Given the description of an element on the screen output the (x, y) to click on. 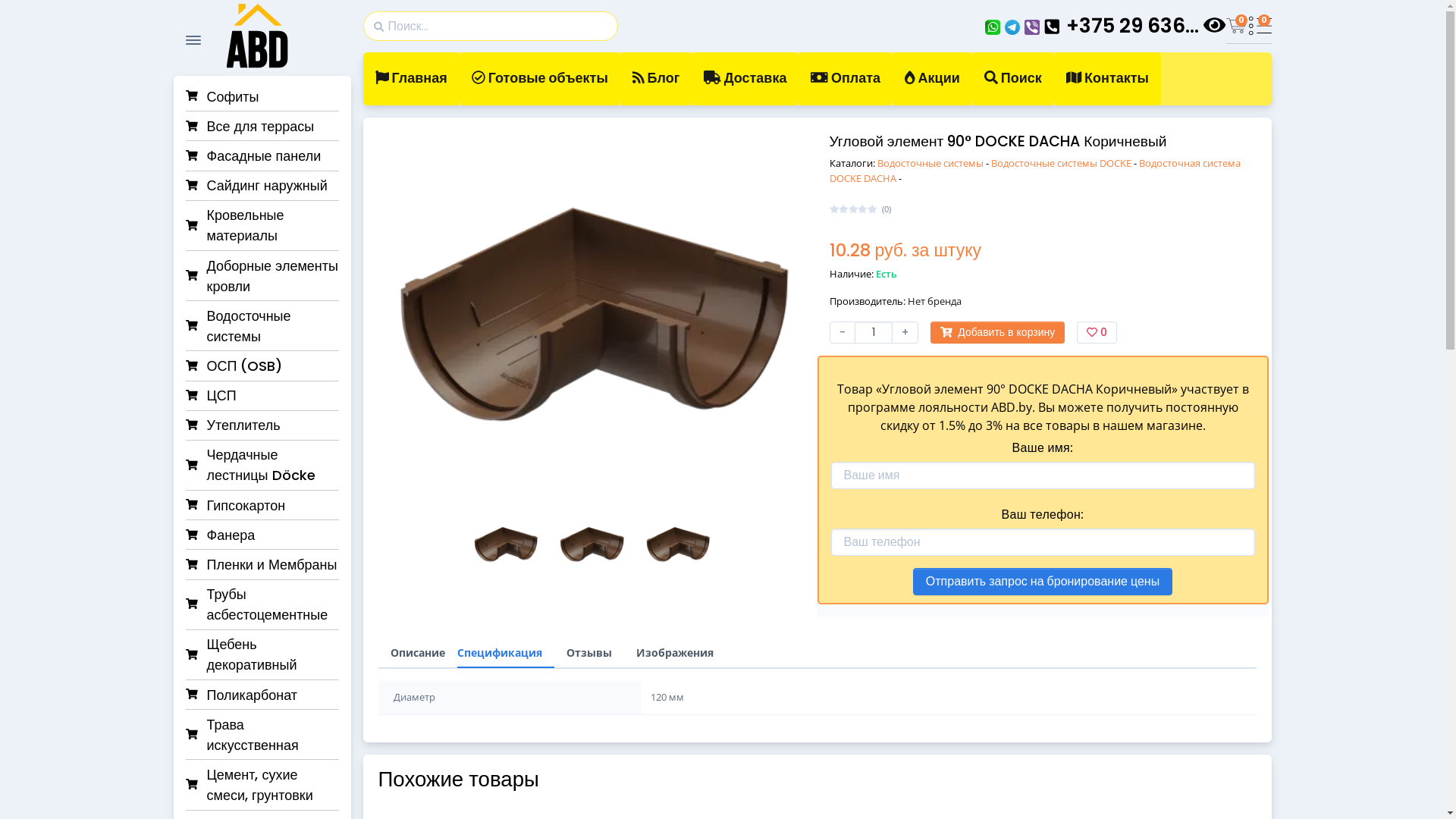
0 Element type: text (1236, 25)
0 Element type: text (1096, 332)
- Element type: text (842, 332)
0 Element type: text (1259, 25)
+ Element type: text (904, 332)
